Given the description of an element on the screen output the (x, y) to click on. 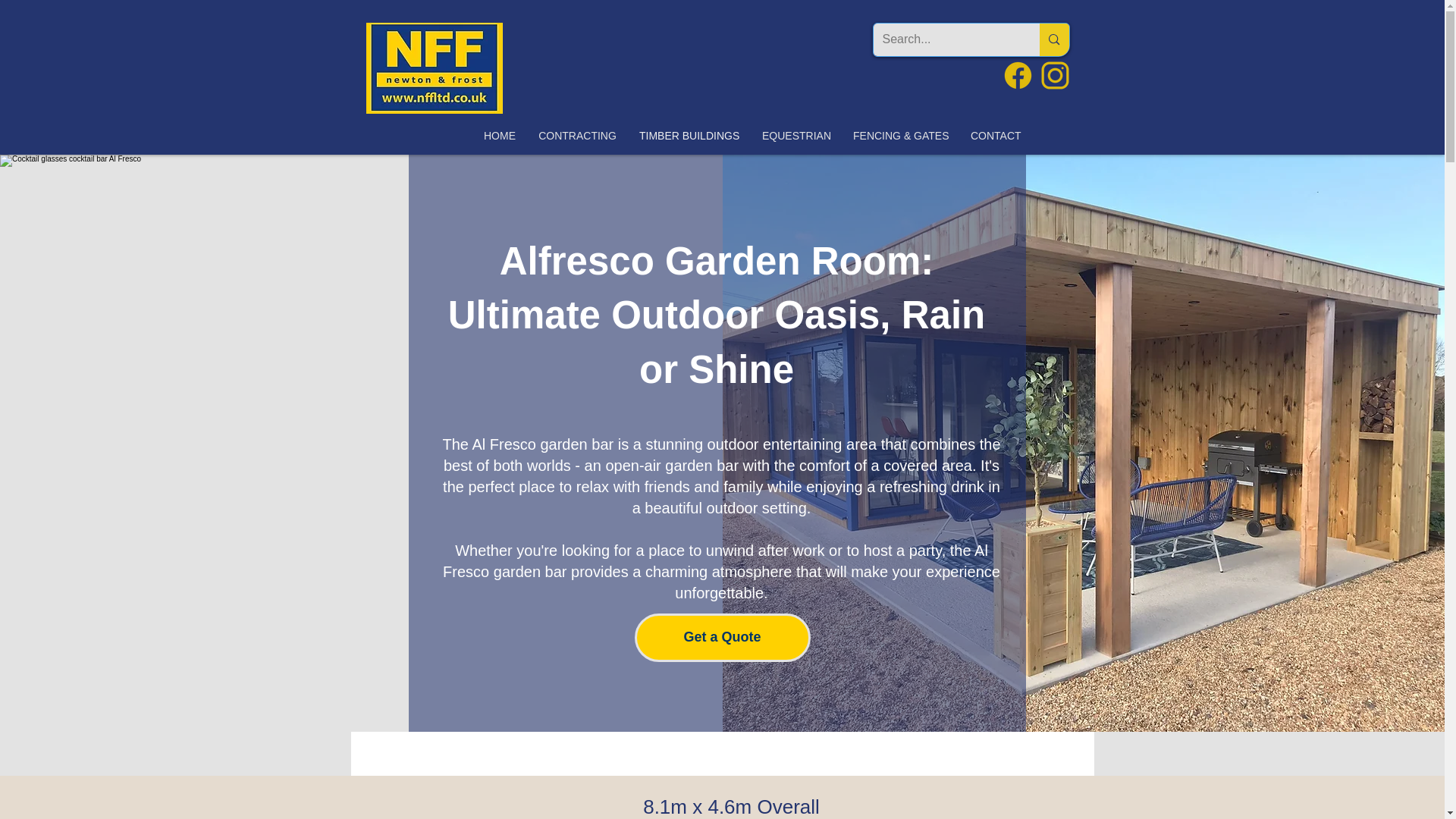
TIMBER BUILDINGS (689, 135)
EQUESTRIAN (796, 135)
CONTRACTING (577, 135)
HOME (499, 135)
